Given the description of an element on the screen output the (x, y) to click on. 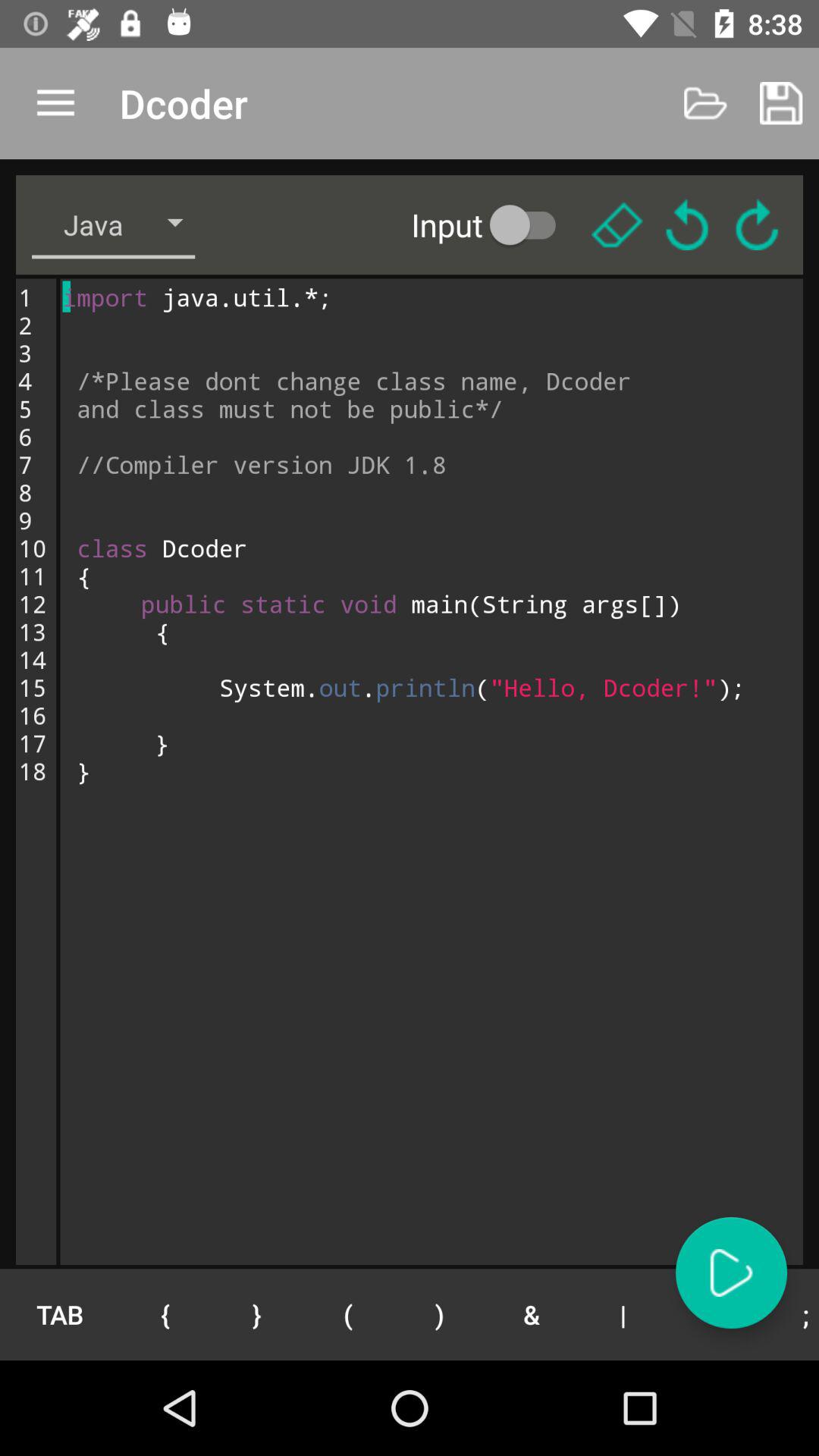
undo last action (686, 224)
